Given the description of an element on the screen output the (x, y) to click on. 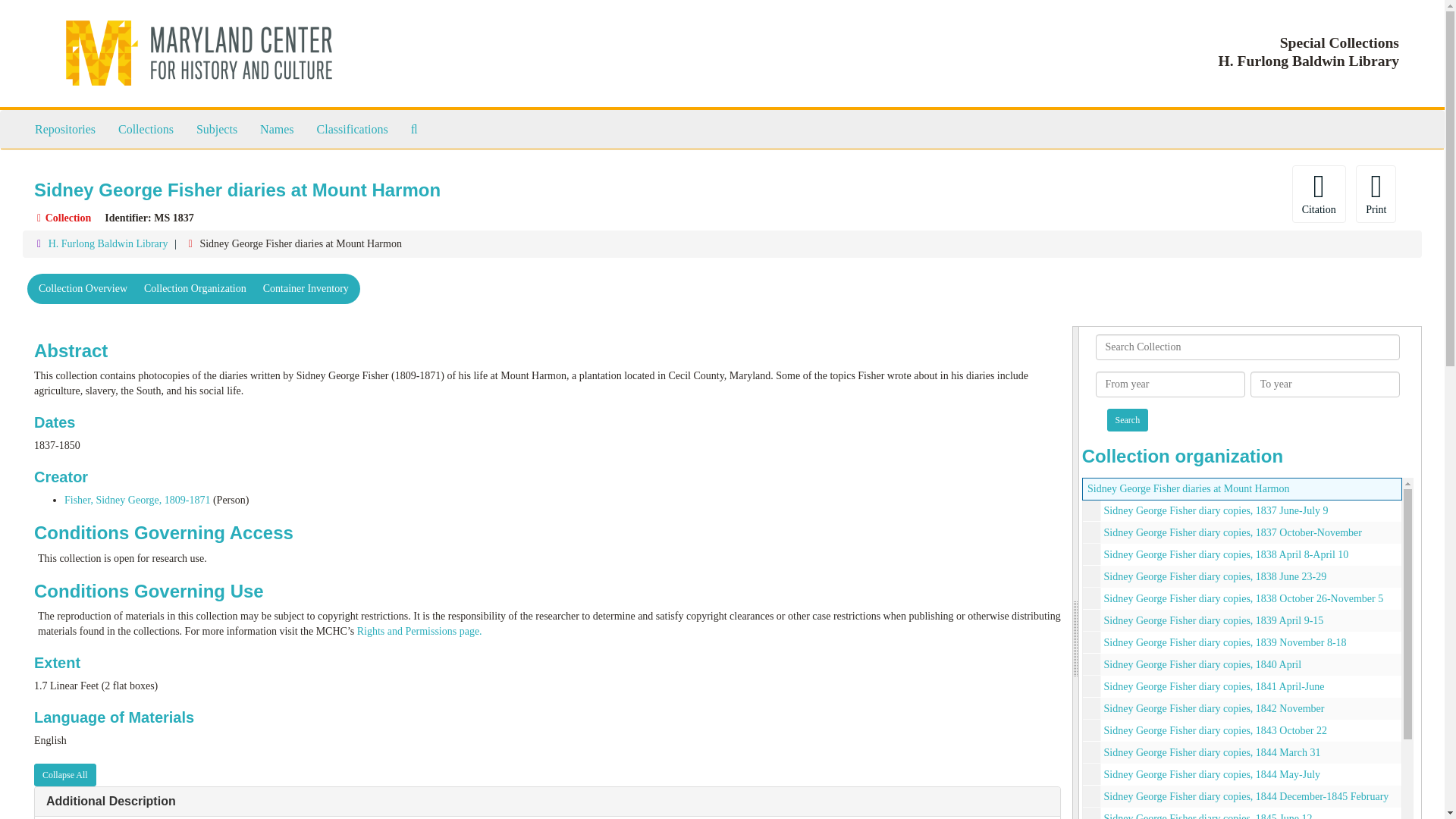
Sidney George Fisher diary copies (1241, 576)
Sidney George Fisher diary copies (1241, 532)
Sidney George Fisher diary copies, 1837 June-July 9 (1215, 510)
Sidney George Fisher diaries at Mount Harmon (1187, 488)
Sidney George Fisher diary copies (1241, 730)
Search (1127, 419)
Sidney George Fisher diary copies (1241, 796)
Sidney George Fisher diary copies (1241, 708)
Sidney George Fisher diary copies (1241, 642)
Sidney George Fisher diary copies (1241, 752)
Sidney George Fisher diary copies (1241, 510)
Rights and Permissions page. (418, 631)
Subjects (216, 129)
Citation (1318, 193)
Names (276, 129)
